Given the description of an element on the screen output the (x, y) to click on. 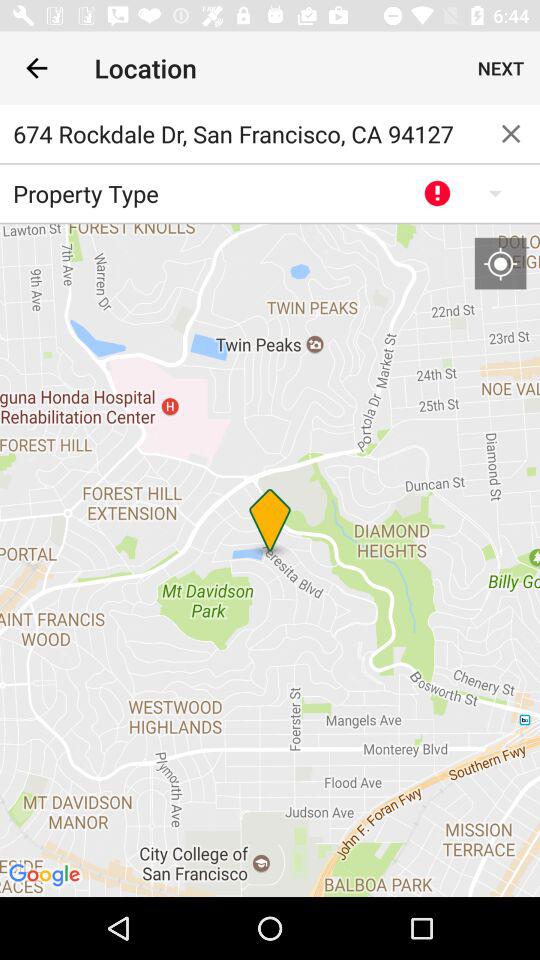
scroll until 674 rockdale dr icon (241, 134)
